Given the description of an element on the screen output the (x, y) to click on. 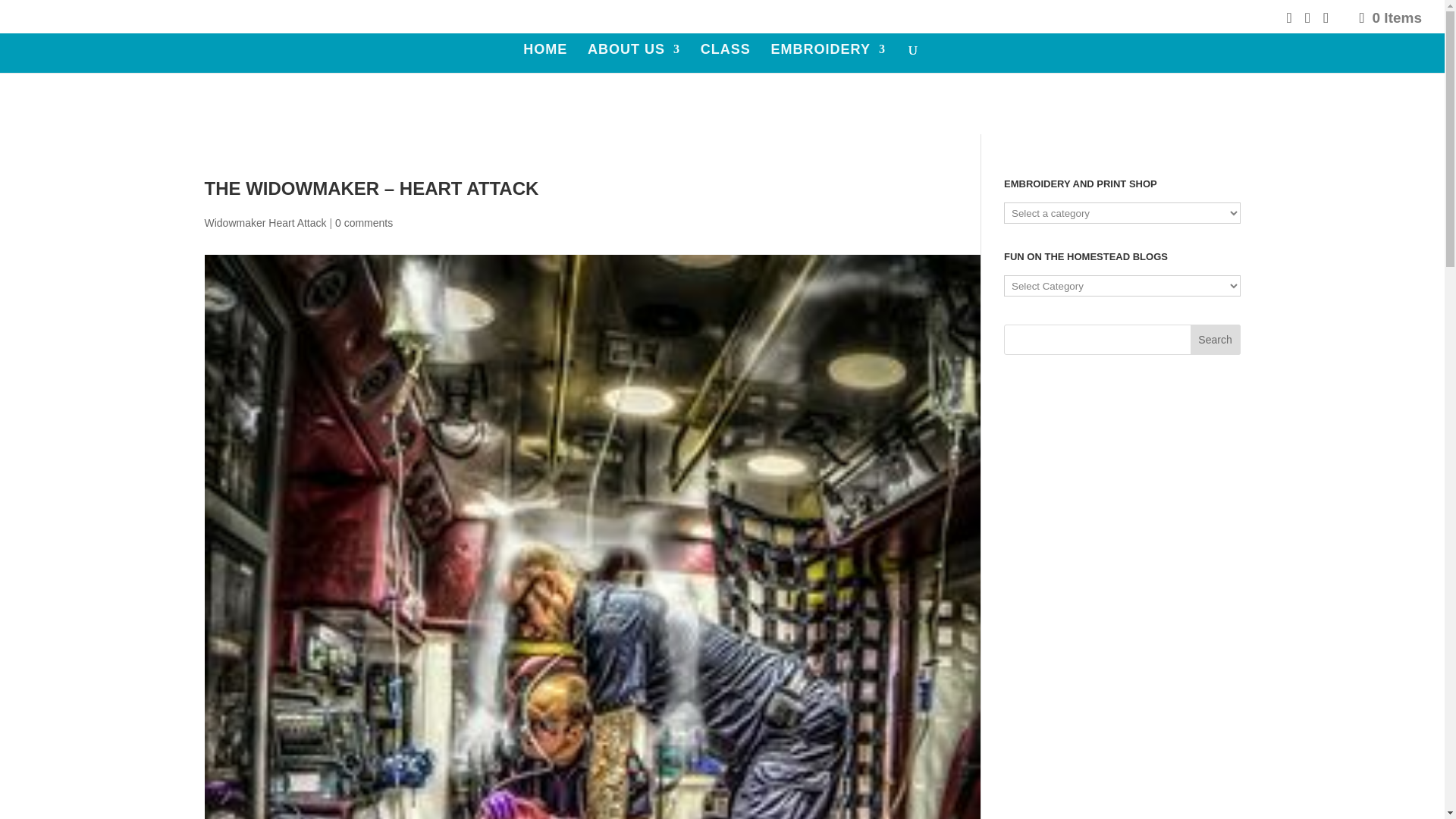
CLASS (725, 58)
EMBROIDERY (828, 58)
Widowmaker Heart Attack (265, 223)
Search (1215, 339)
HOME (544, 58)
0 comments (363, 223)
0 Items (1388, 17)
Search (1215, 339)
ABOUT US (633, 58)
